Given the description of an element on the screen output the (x, y) to click on. 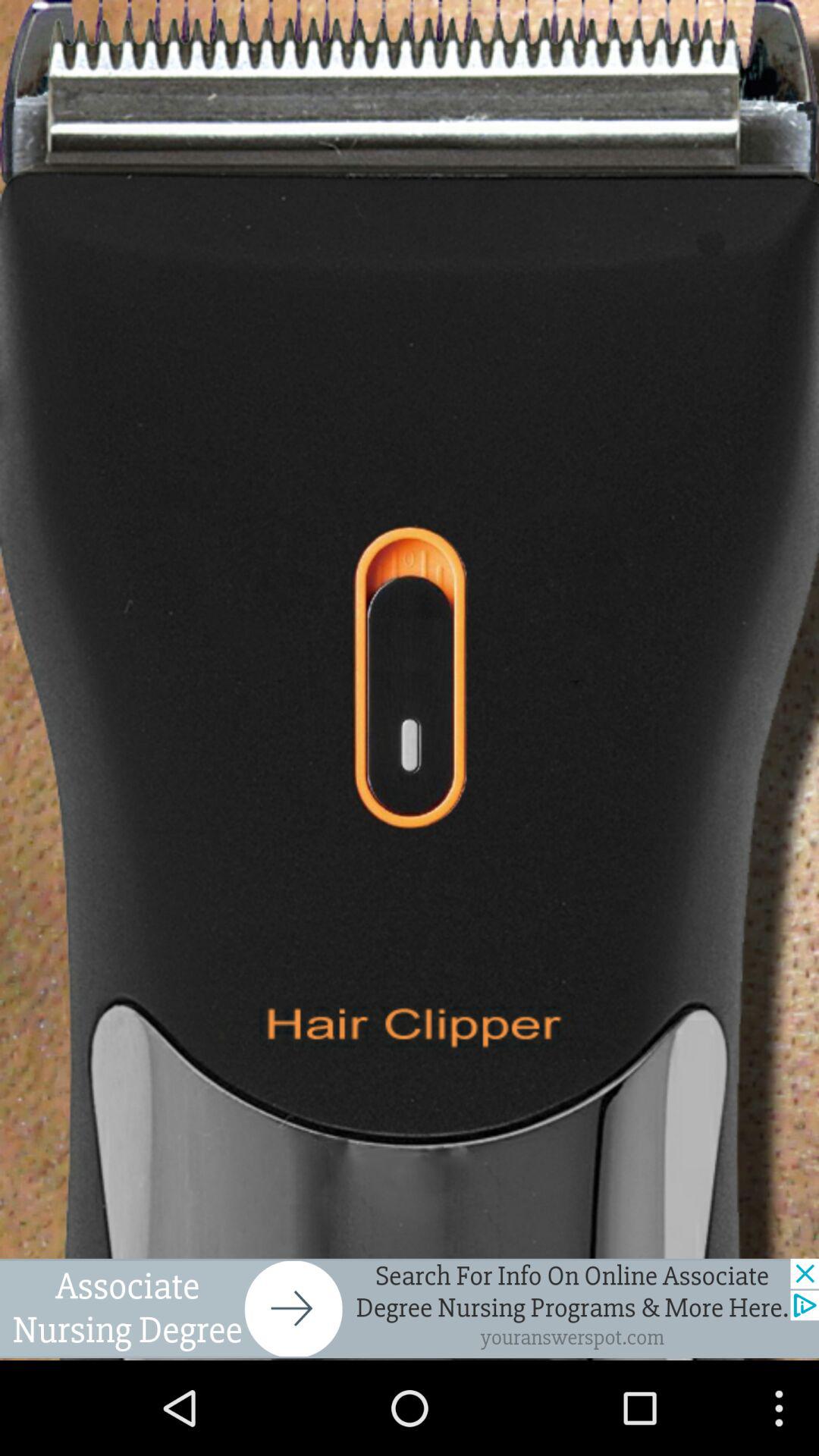
nurse degree advertisement (409, 1308)
